Given the description of an element on the screen output the (x, y) to click on. 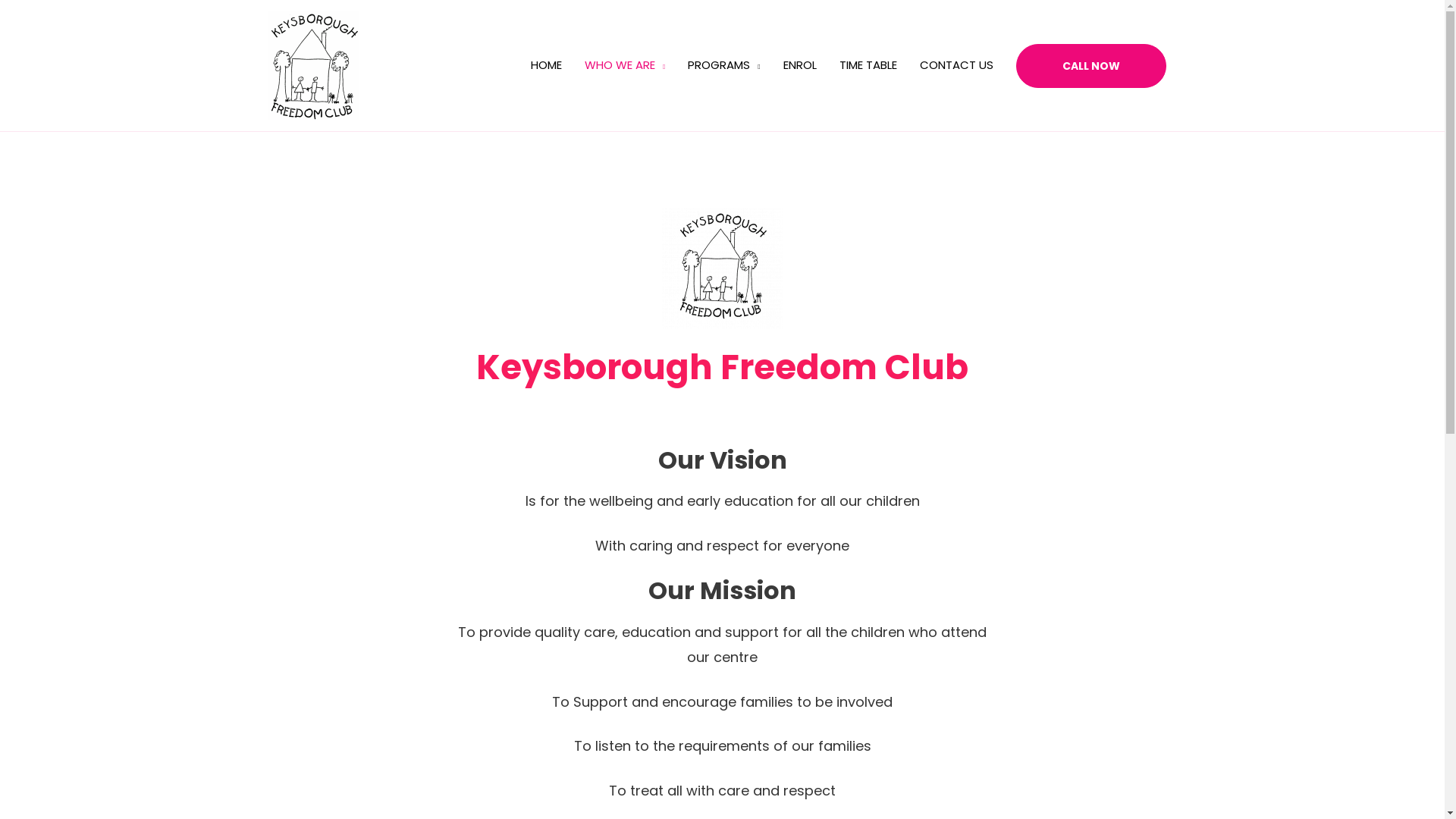
PROGRAMS Element type: text (723, 64)
HOME Element type: text (546, 64)
ENROL Element type: text (799, 64)
CALL NOW Element type: text (1091, 65)
TIME TABLE Element type: text (868, 64)
WHO WE ARE Element type: text (624, 64)
CONTACT US Element type: text (956, 64)
CALL NOW Element type: text (1091, 65)
